Given the description of an element on the screen output the (x, y) to click on. 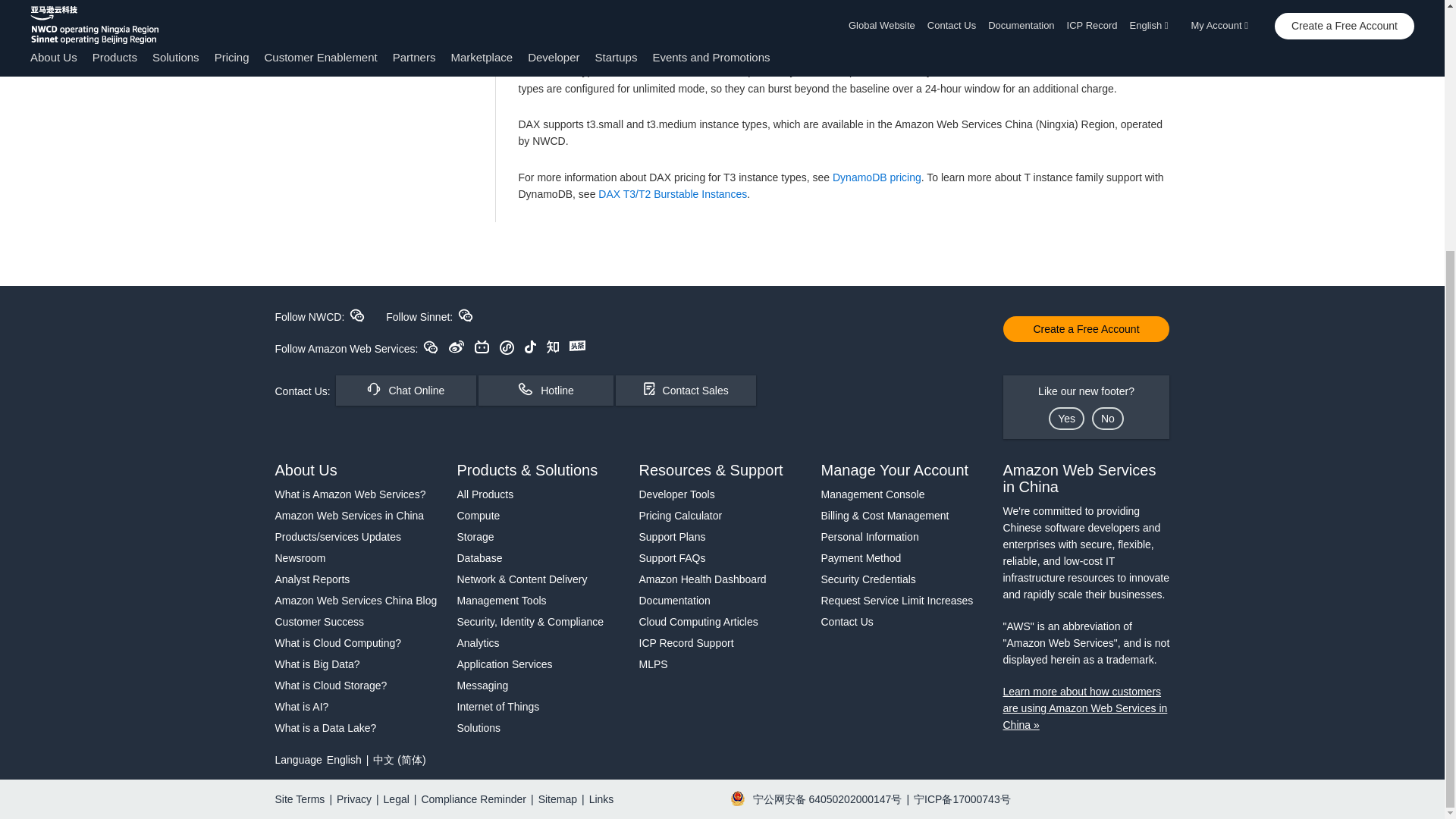
SinaWeiBo (456, 346)
Applets (506, 347)
NWCD (357, 315)
Bilibili (481, 346)
WeChat public account (430, 346)
TouTiao (577, 345)
Sinnet (465, 315)
ZhiHu (553, 346)
